Given the description of an element on the screen output the (x, y) to click on. 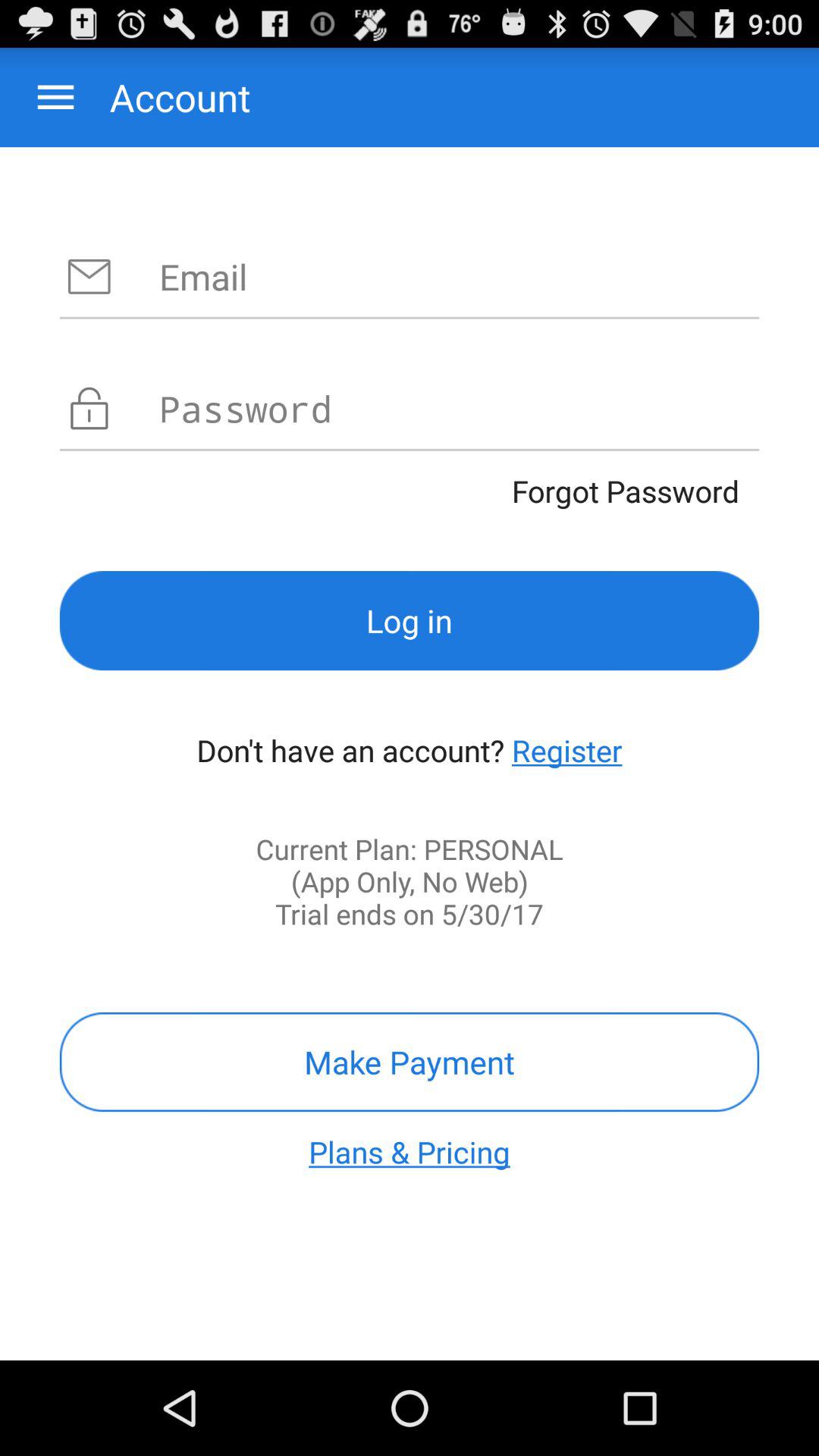
flip until the log in button (409, 620)
